Given the description of an element on the screen output the (x, y) to click on. 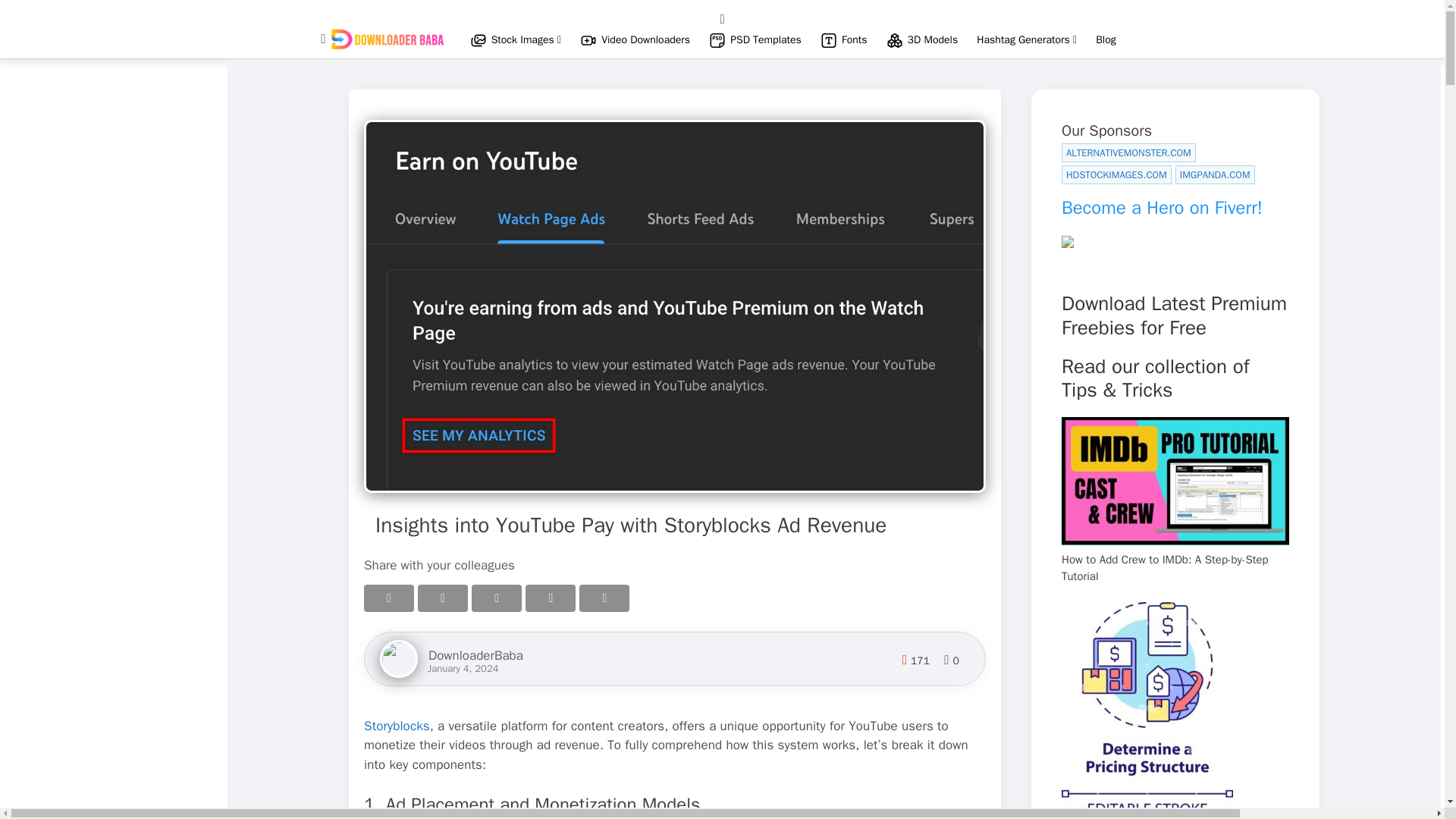
PSD Templates (765, 39)
Fonts (854, 39)
Video Downloaders (645, 39)
3D Models (932, 39)
Storyblocks (396, 725)
Blog (1105, 39)
Hashtag Generators (1026, 39)
Downloader Baba Official Logo (387, 38)
Stock Images (526, 39)
